Given the description of an element on the screen output the (x, y) to click on. 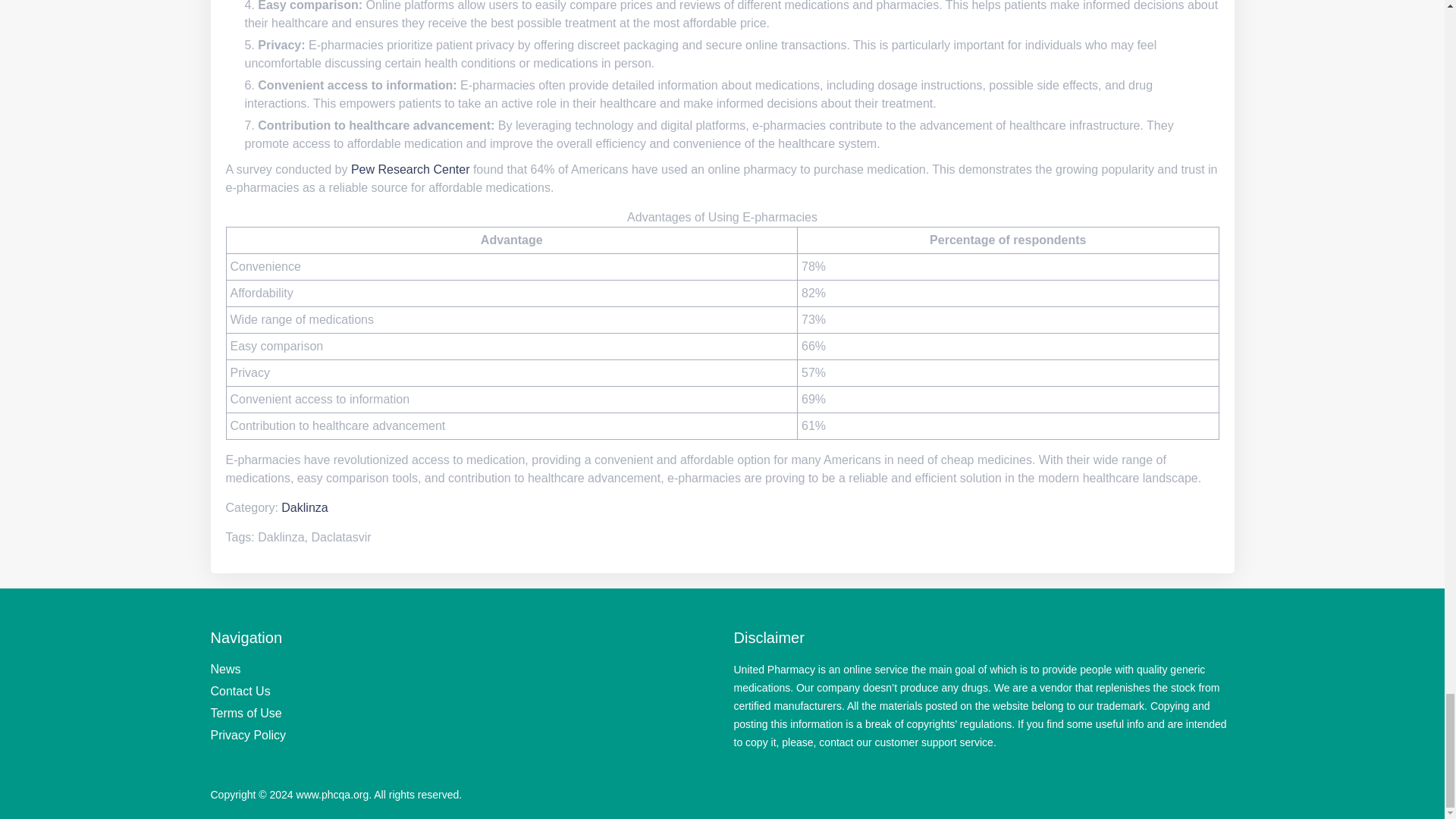
Daklinza (304, 507)
Privacy Policy (248, 735)
News (226, 668)
Contact Us (240, 690)
Terms of Use (246, 712)
Pew Research Center (410, 169)
